Given the description of an element on the screen output the (x, y) to click on. 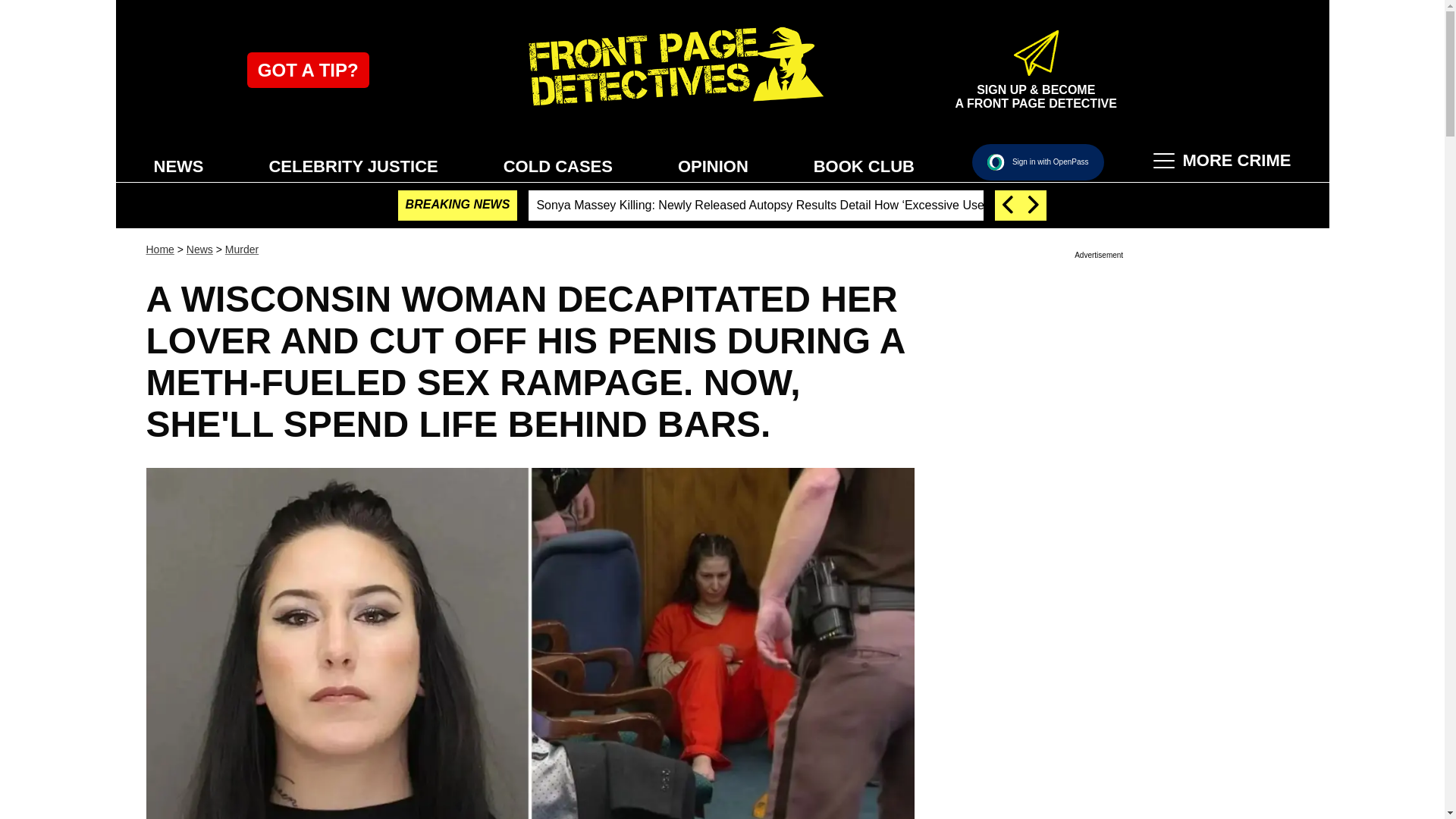
BOOK CLUB (863, 164)
COLD CASES (558, 164)
CELEBRITY JUSTICE (352, 164)
Sign in with OpenPass (1037, 162)
Sign up for your daily dose of dope. (1036, 89)
Murder (242, 249)
News (199, 249)
Home (159, 249)
NEWS (178, 164)
OpenPass Logo (995, 161)
OPINION (712, 164)
Front Page Detective (671, 70)
Email us your tip (308, 69)
GOT A TIP? (308, 69)
